Given the description of an element on the screen output the (x, y) to click on. 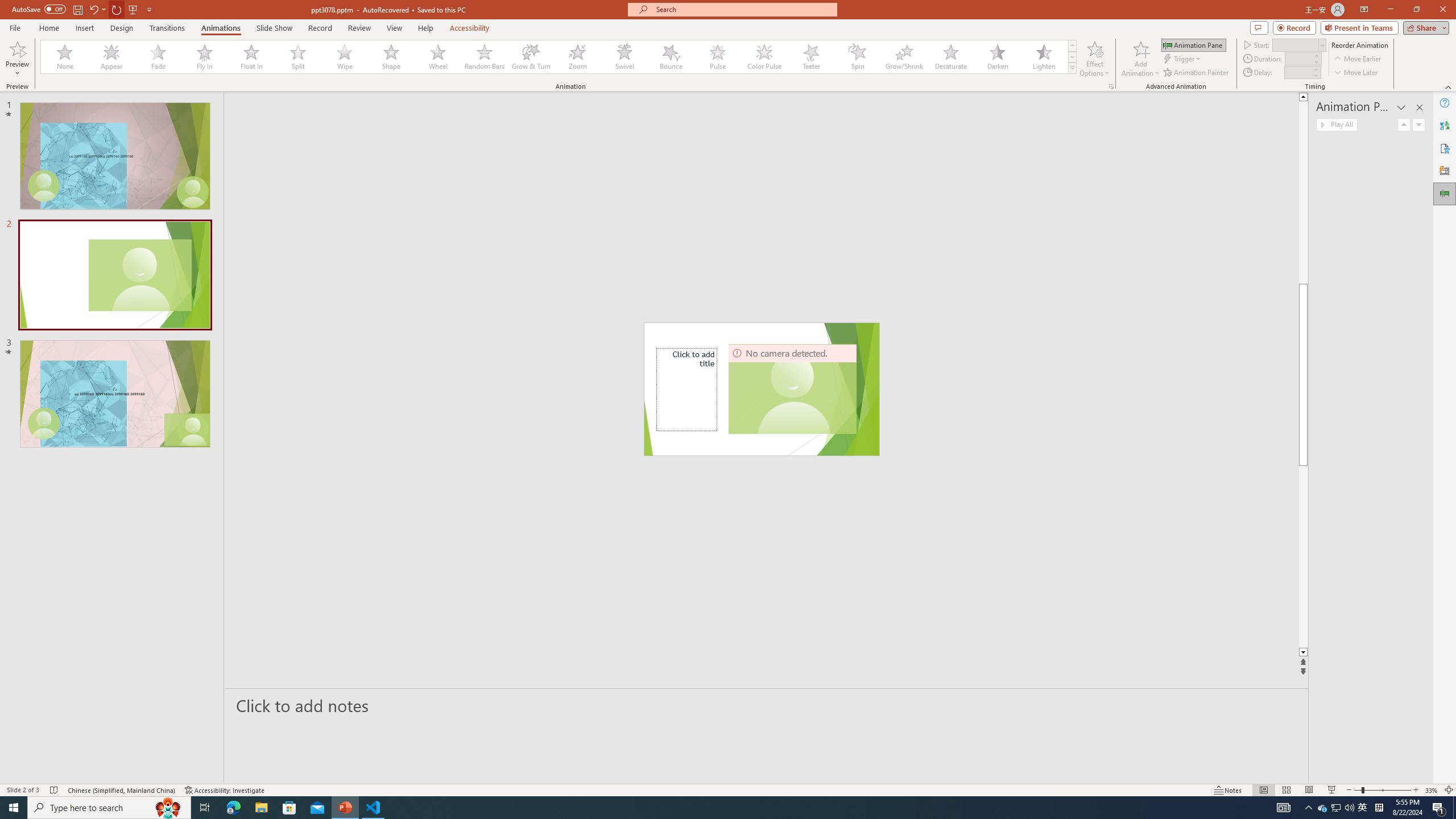
Lighten (1043, 56)
Animation Duration (1298, 58)
Bounce (670, 56)
Zoom 33% (1431, 790)
Animation Painter (1196, 72)
